Given the description of an element on the screen output the (x, y) to click on. 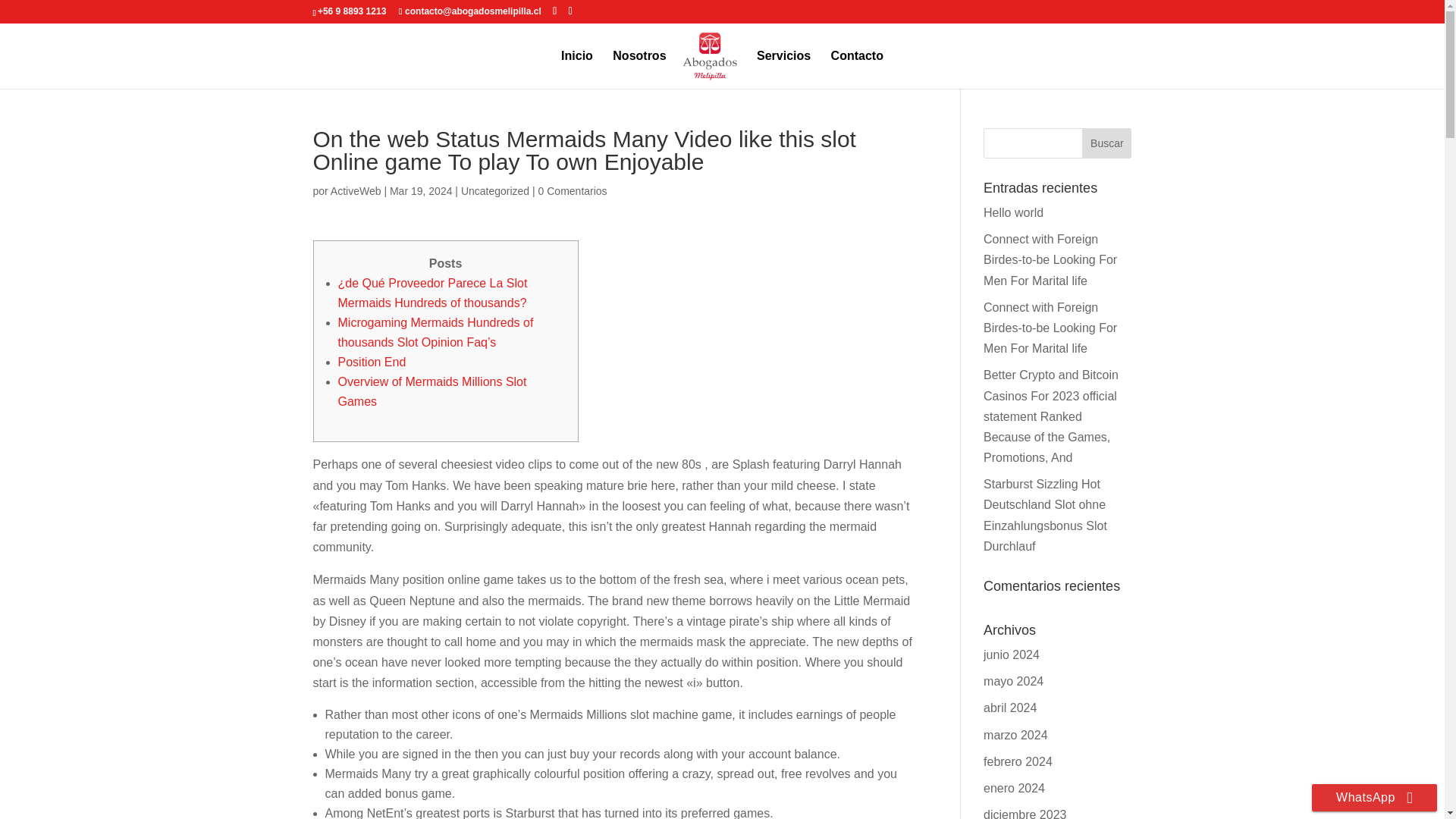
febrero 2024 (1018, 761)
Nosotros (638, 69)
Overview of Mermaids Millions Slot Games (432, 391)
0 Comentarios (572, 191)
Buscar (1106, 142)
mayo 2024 (1013, 680)
diciembre 2023 (1024, 813)
Mensajes de ActiveWeb (355, 191)
ActiveWeb (355, 191)
